Given the description of an element on the screen output the (x, y) to click on. 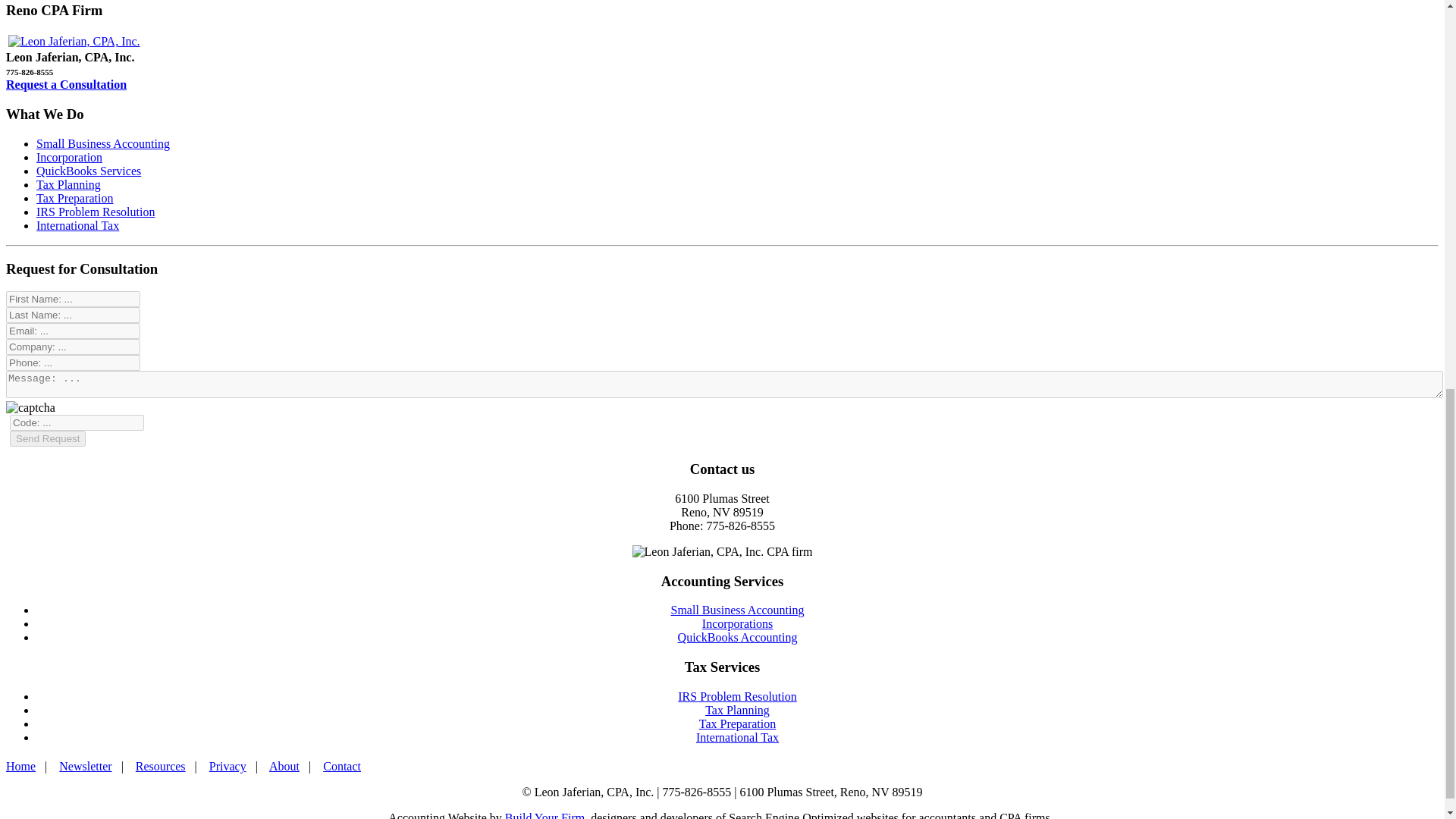
International Tax (77, 225)
Small Business Accounting (736, 609)
Small Business Accounting (103, 143)
Tax Preparation (737, 723)
Send Request (47, 438)
QuickBooks Accounting (737, 636)
Request a Consultation (65, 83)
Incorporations (737, 623)
QuickBooks Services (88, 170)
Tax Planning (737, 709)
